Given the description of an element on the screen output the (x, y) to click on. 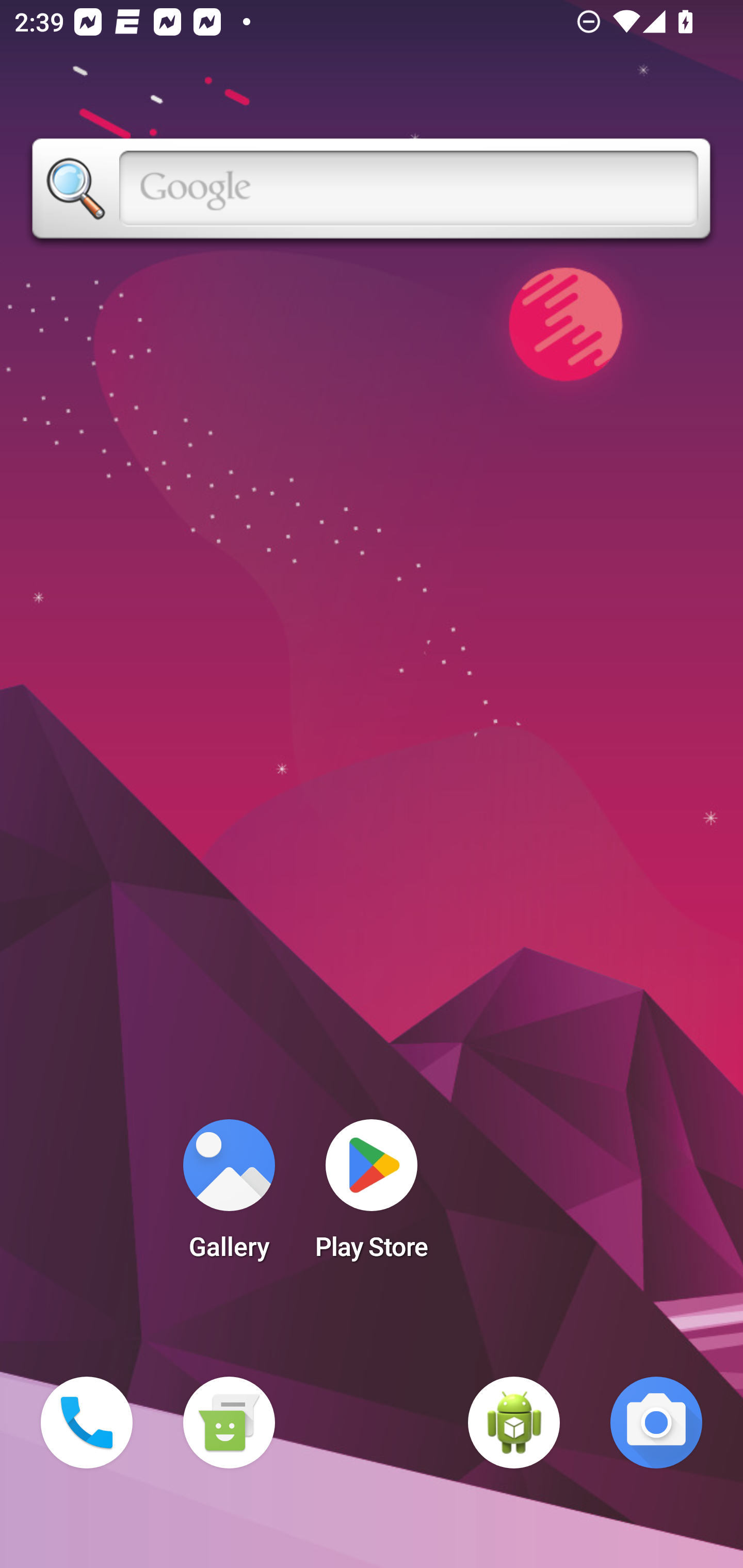
Gallery (228, 1195)
Play Store (371, 1195)
Phone (86, 1422)
Messaging (228, 1422)
WebView Browser Tester (513, 1422)
Camera (656, 1422)
